Given the description of an element on the screen output the (x, y) to click on. 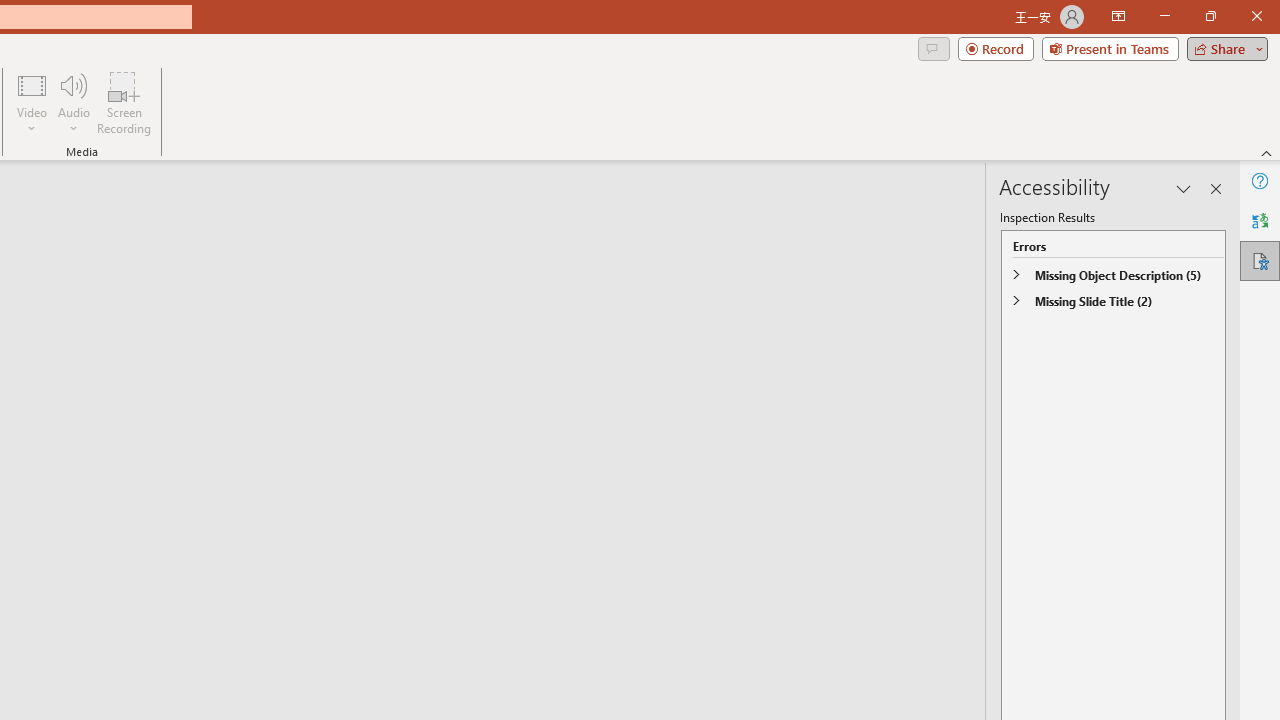
Audio (73, 102)
Screen Recording... (123, 102)
